Given the description of an element on the screen output the (x, y) to click on. 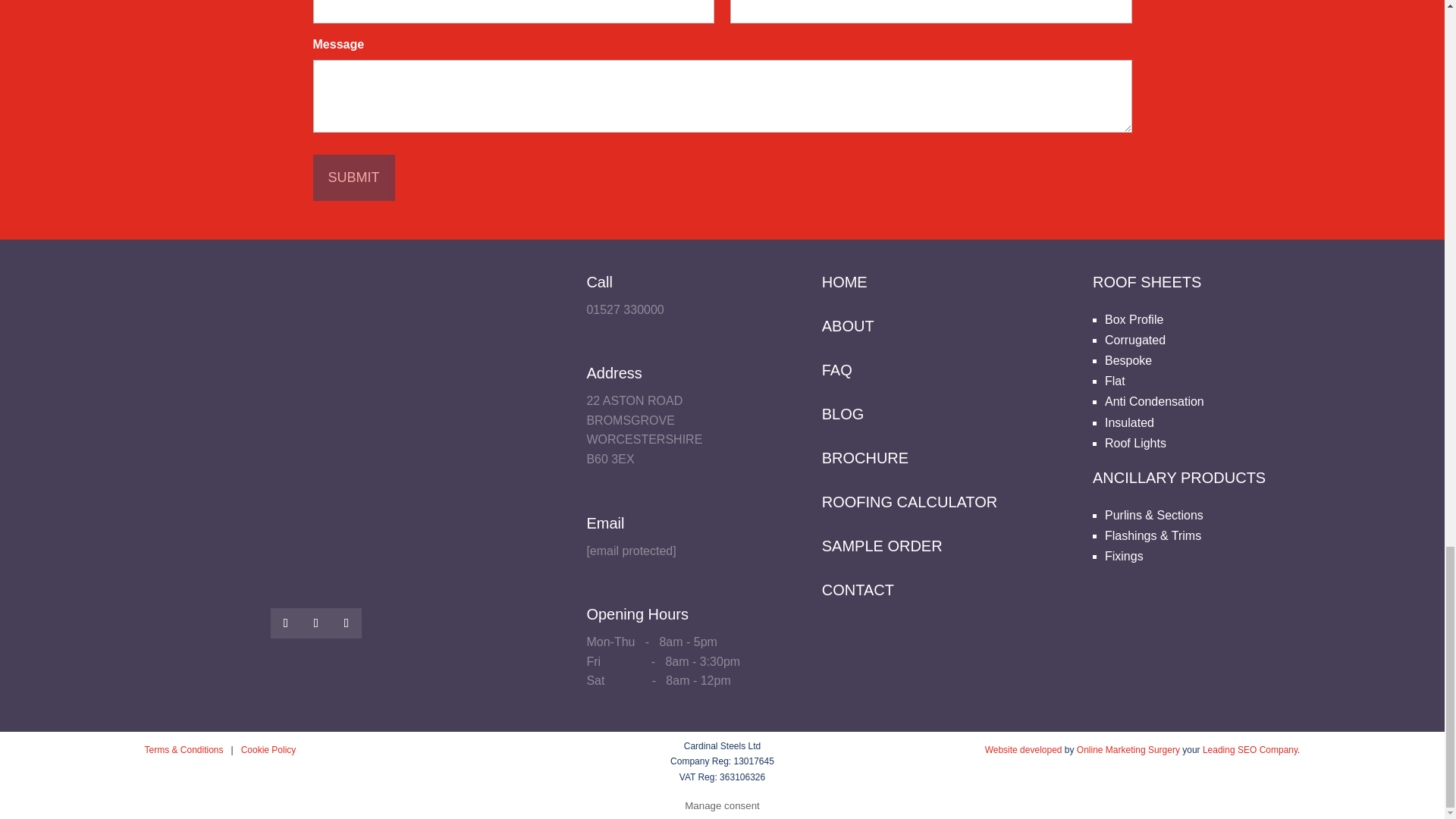
Follow on Facebook (285, 622)
Follow on Instagram (316, 622)
Follow on LinkedIn (346, 622)
reversed logo (315, 407)
Submit (353, 177)
